Given the description of an element on the screen output the (x, y) to click on. 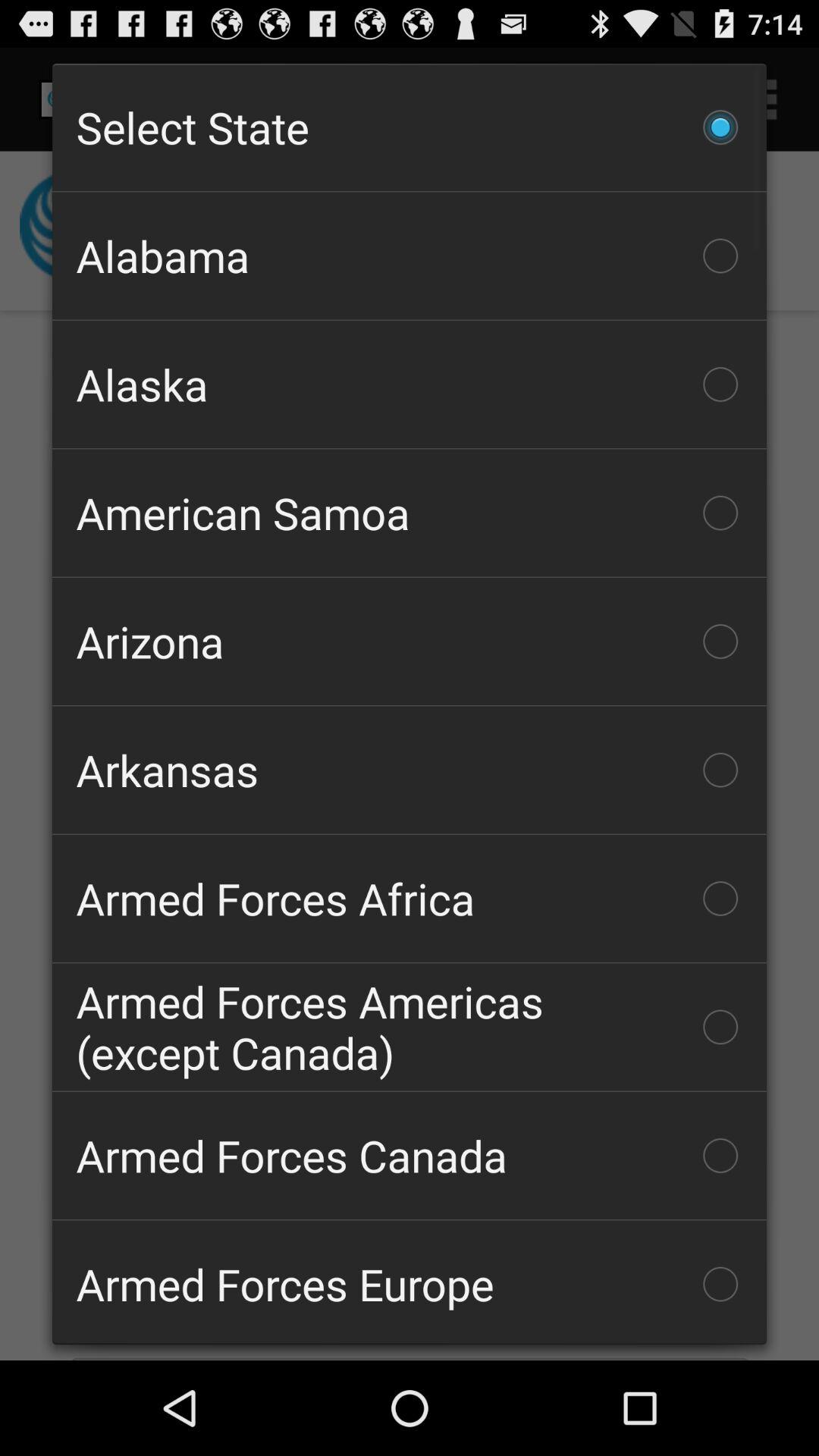
scroll until the alabama item (409, 255)
